Given the description of an element on the screen output the (x, y) to click on. 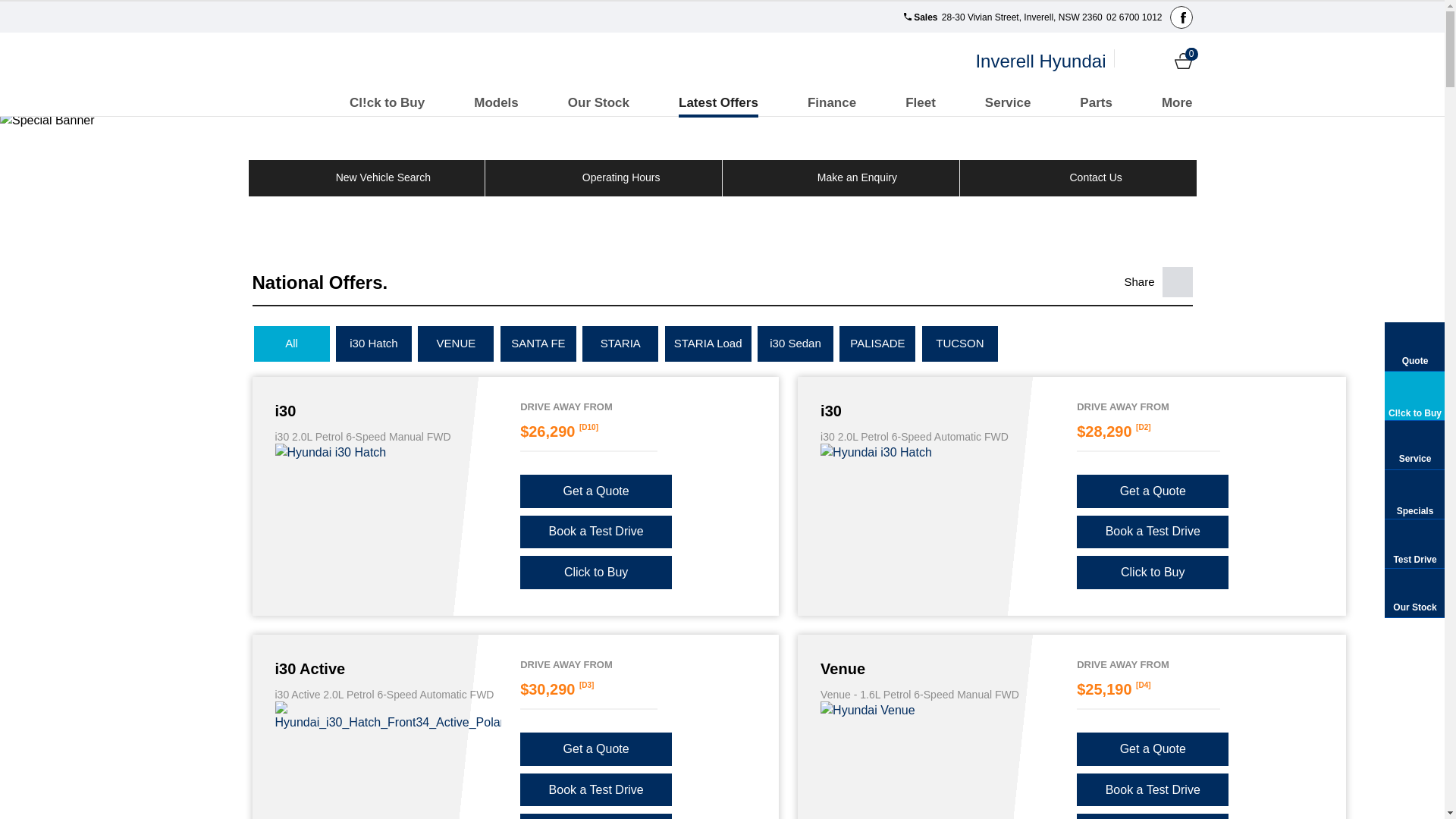
Cl!ck to Buy Element type: text (386, 102)
Operating Hours Element type: text (602, 178)
28-30 Vivian Street, Inverell, NSW 2360 Element type: text (1021, 17)
Parts Element type: text (1095, 102)
Our Stock Element type: text (598, 102)
Make an Enquiry Element type: text (840, 178)
More Element type: text (1176, 102)
Get a Quote Element type: text (1152, 748)
Contact Us Element type: text (1077, 178)
Click to Buy Element type: text (1152, 572)
Models Element type: text (495, 102)
Click to Buy Element type: text (595, 572)
Login Element type: text (1131, 60)
Book a Test Drive Element type: text (595, 789)
Cart
0 Element type: text (1182, 61)
Book a Test Drive Element type: text (1152, 532)
Get a Quote Element type: text (595, 748)
Fleet Element type: text (920, 102)
Get a Quote Element type: text (1152, 491)
Latest Offers Element type: text (718, 102)
Hyundai Motor Company Element type: text (313, 60)
Facebook Element type: hover (1180, 17)
Share This Page Element type: text (1176, 281)
Service Element type: text (1008, 102)
02 6700 1012 Element type: text (1132, 17)
New Vehicle Search Element type: text (366, 178)
Book a Test Drive Element type: text (595, 532)
Get a Quote Element type: text (595, 491)
Finance Element type: text (831, 102)
Book a Test Drive Element type: text (1152, 789)
Signup Element type: text (1157, 60)
